Given the description of an element on the screen output the (x, y) to click on. 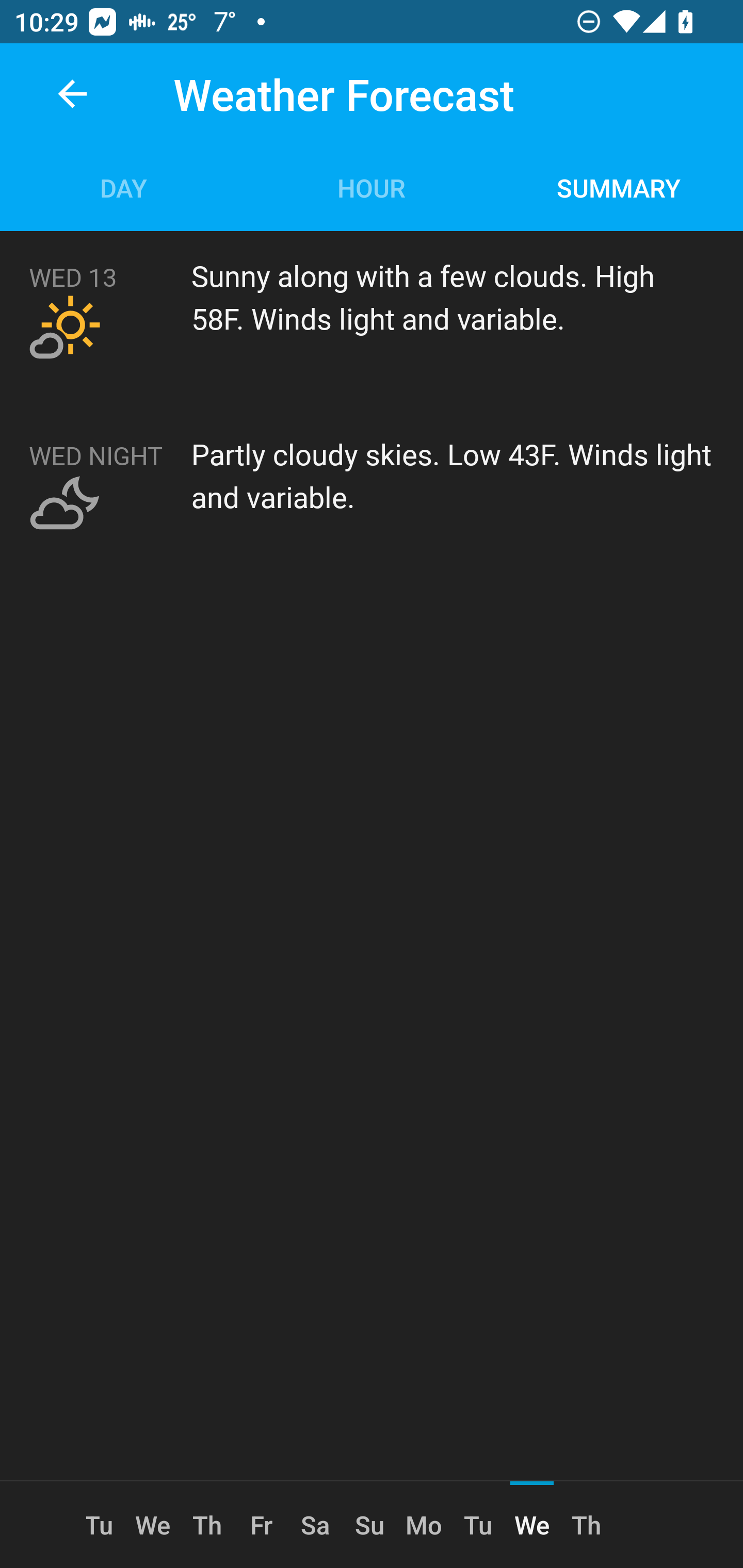
back (71, 93)
Day Tab DAY (123, 187)
Hour Tab HOUR (371, 187)
Tu (105, 1524)
We (152, 1524)
Th (206, 1524)
Fr (261, 1524)
Sa (315, 1524)
Su (369, 1524)
Mo (423, 1524)
Tu (478, 1524)
Th (586, 1524)
